Given the description of an element on the screen output the (x, y) to click on. 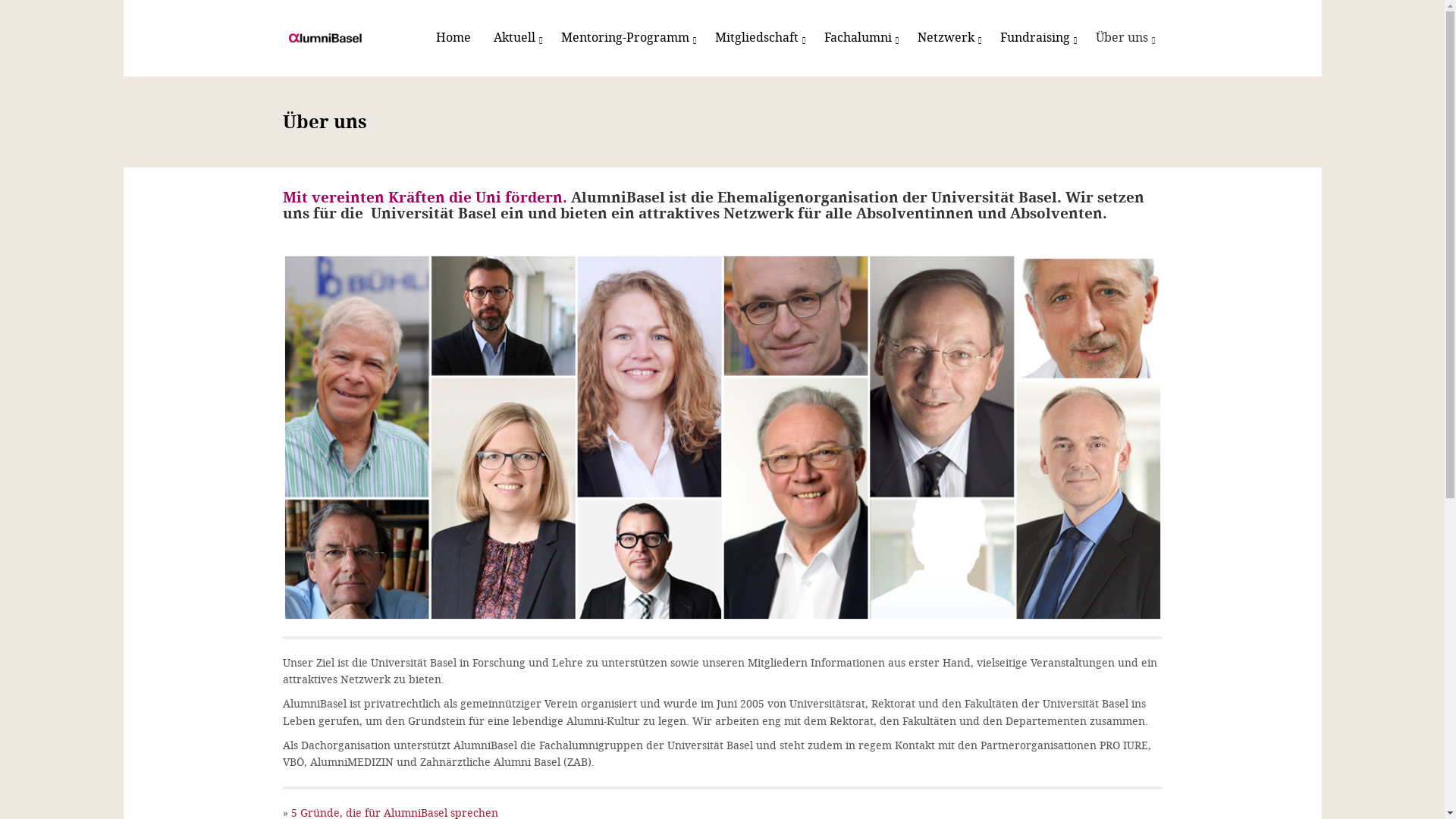
Fachalumni Element type: text (859, 38)
Mentoring-Programm Element type: text (625, 38)
Aktuell Element type: text (515, 38)
Mitgliedschaft Element type: text (757, 38)
Home Element type: text (453, 37)
Skip to main content Element type: text (0, 0)
Home Element type: hover (331, 37)
Fundraising Element type: text (1036, 38)
Netzwerk Element type: text (946, 38)
